Given the description of an element on the screen output the (x, y) to click on. 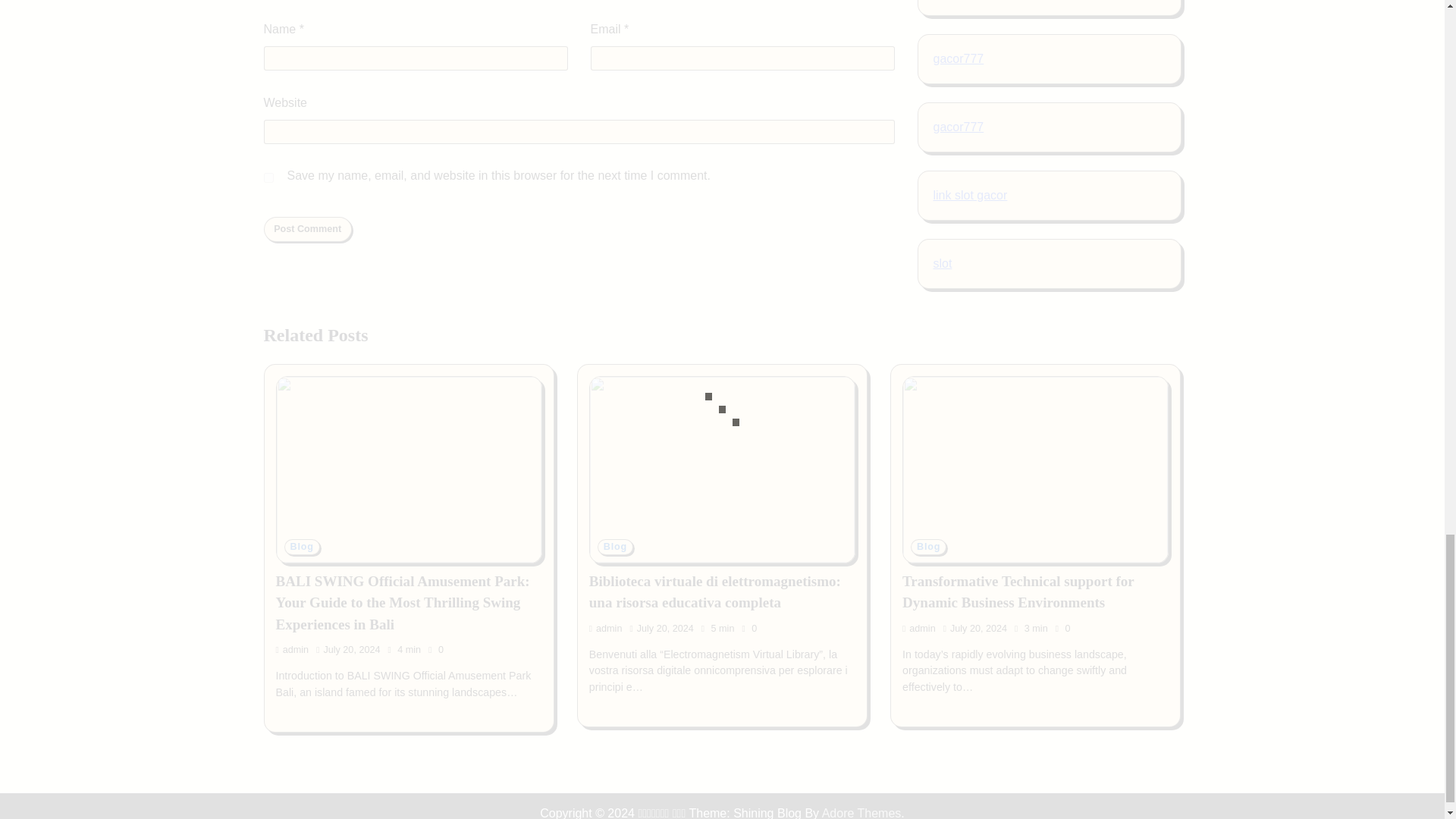
Post Comment (307, 229)
admin (292, 649)
Post Comment (307, 229)
Blog (300, 546)
yes (268, 177)
